Given the description of an element on the screen output the (x, y) to click on. 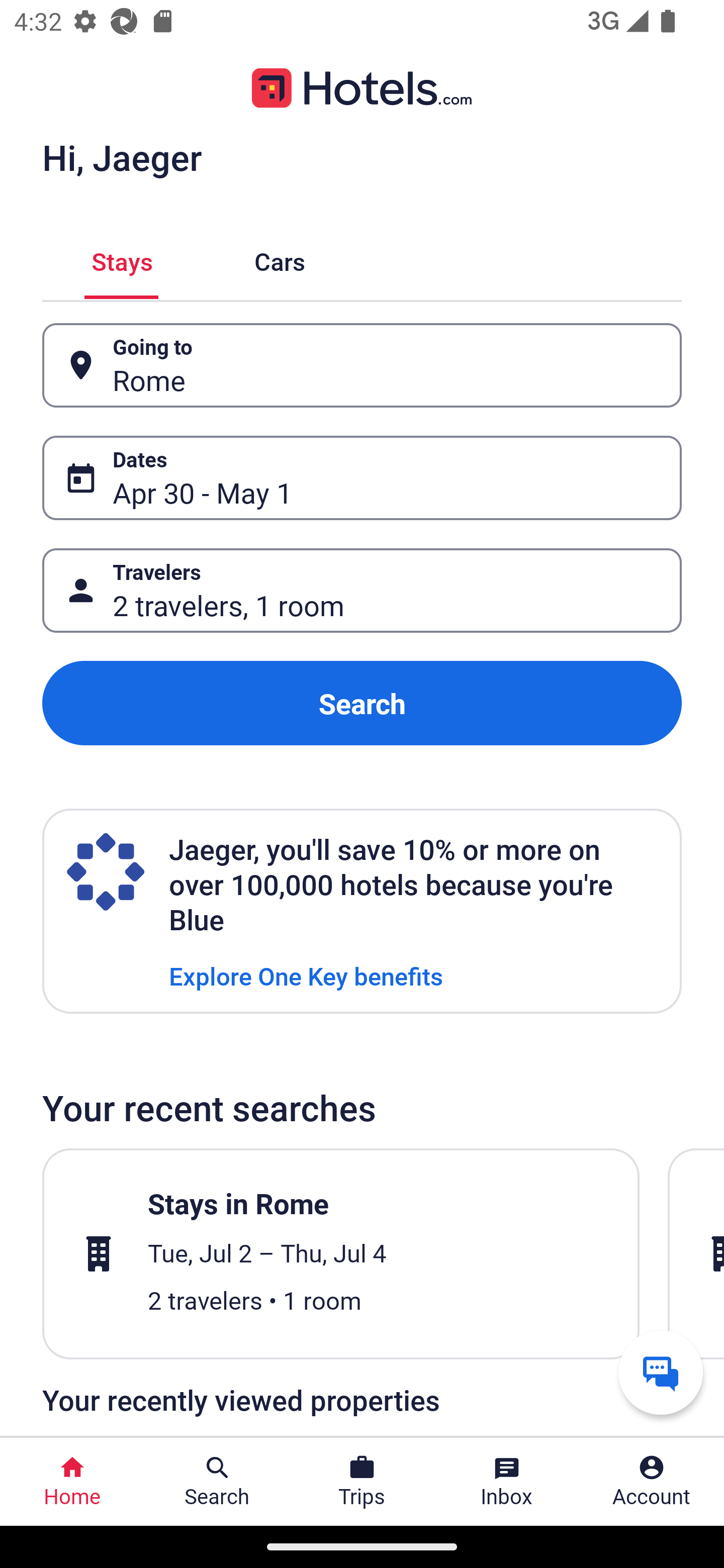
Hi, Jaeger (121, 156)
Cars (279, 259)
Going to Button Rome (361, 365)
Dates Button Apr 30 - May 1 (361, 477)
Travelers Button 2 travelers, 1 room (361, 590)
Search (361, 702)
Get help from a virtual agent (660, 1371)
Search Search Button (216, 1481)
Trips Trips Button (361, 1481)
Inbox Inbox Button (506, 1481)
Account Profile. Button (651, 1481)
